Given the description of an element on the screen output the (x, y) to click on. 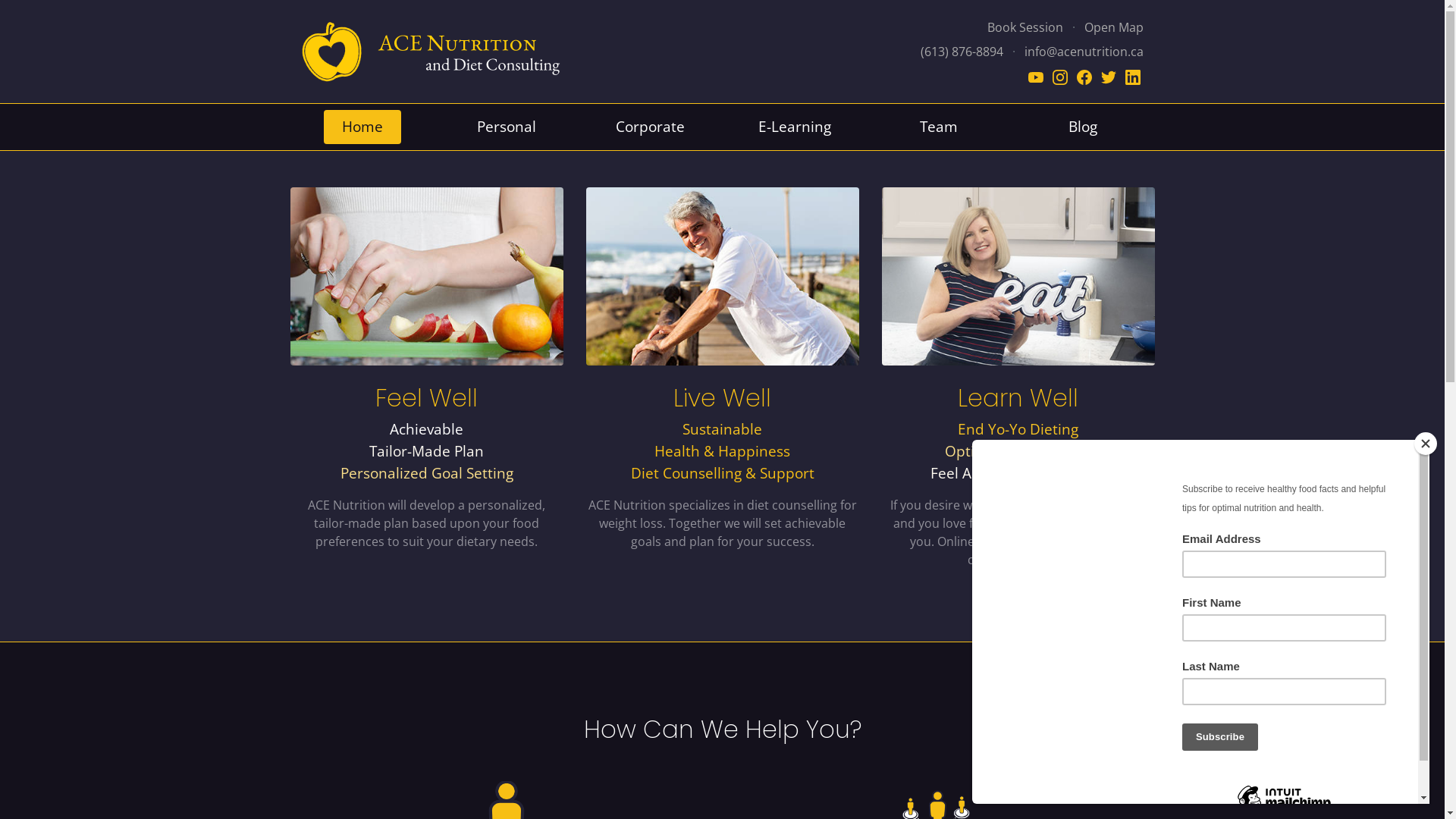
info@acenutrition.ca Element type: text (1082, 51)
Blog Element type: text (1081, 126)
Home Element type: text (361, 126)
Facebook Element type: text (1085, 75)
YouTube Element type: text (1037, 75)
Instagram Element type: text (1061, 75)
Open Map Element type: text (1113, 26)
Twitter Element type: text (1110, 75)
Team Element type: text (937, 126)
(613) 876-8894 Element type: text (961, 51)
Corporate Element type: text (649, 126)
LinkedIn Element type: text (1132, 75)
E-Learning Element type: text (794, 126)
Book Session Element type: text (1025, 26)
Personal Element type: text (505, 126)
